Given the description of an element on the screen output the (x, y) to click on. 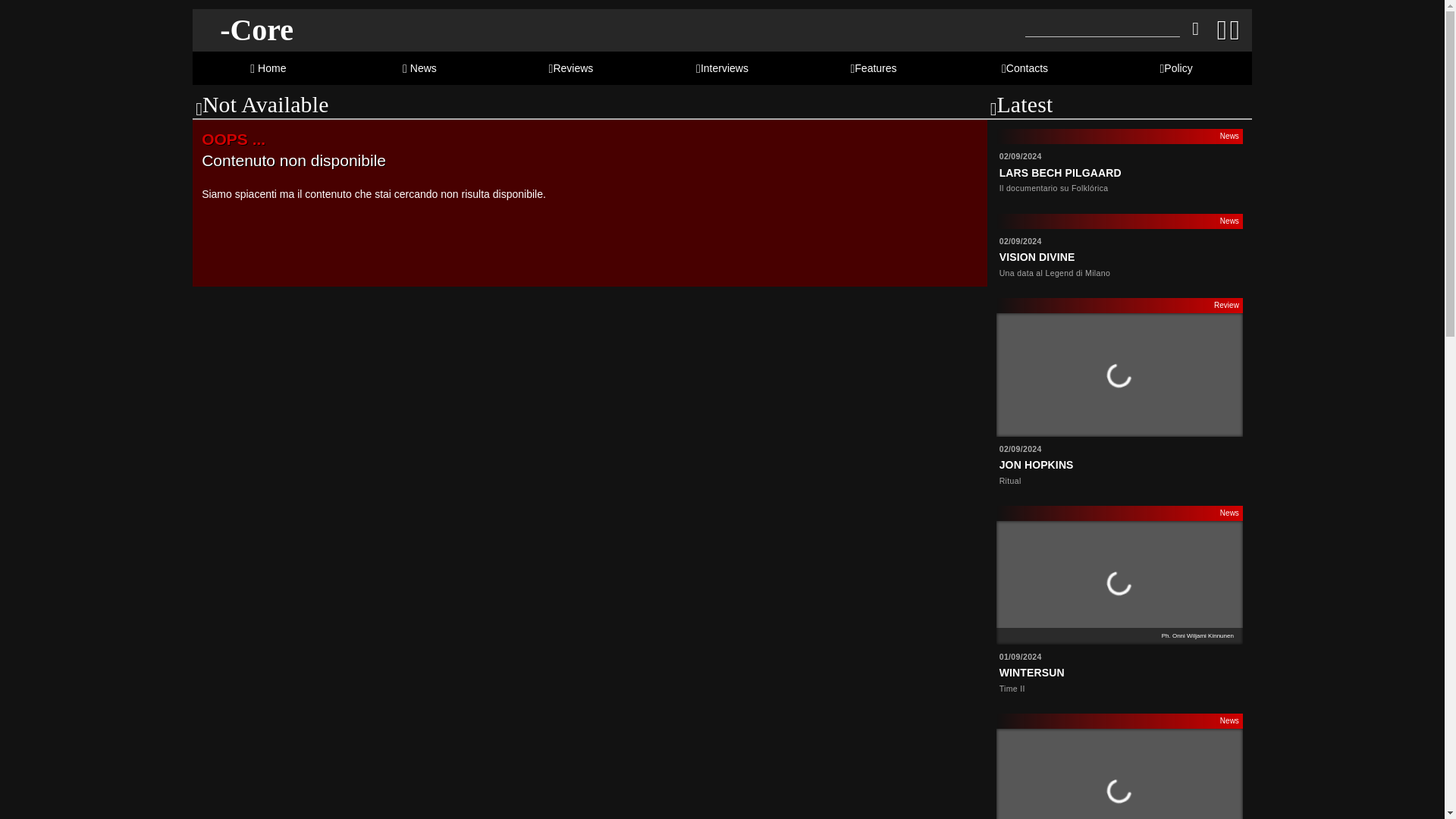
Home (267, 68)
News (419, 68)
-Core (256, 29)
Features (873, 68)
Policy (1177, 68)
Policy (1177, 68)
Contacts (1024, 68)
Reviews (571, 68)
Interviews (721, 68)
